Given the description of an element on the screen output the (x, y) to click on. 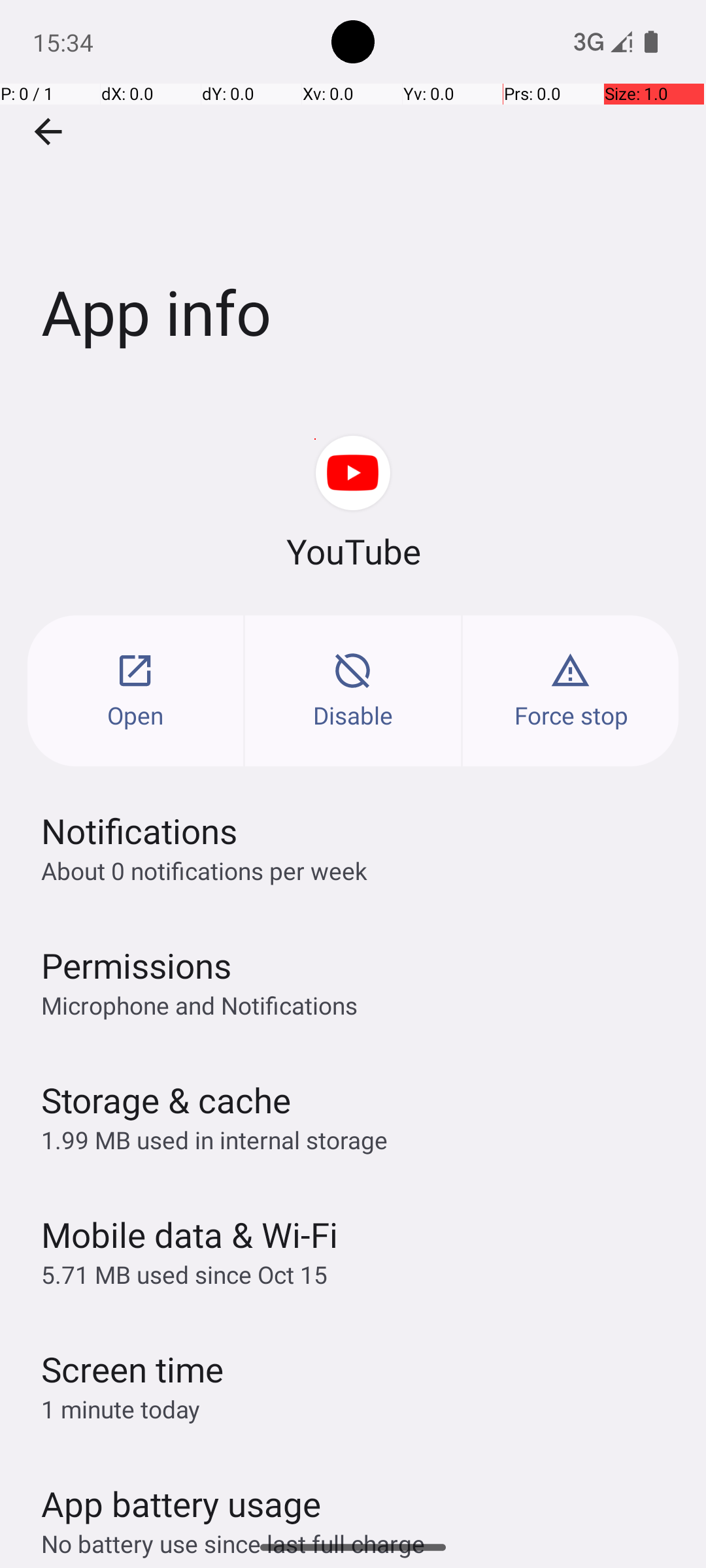
Microphone and Notifications Element type: android.widget.TextView (199, 1004)
1.99 MB used in internal storage Element type: android.widget.TextView (214, 1139)
5.71 MB used since Oct 15 Element type: android.widget.TextView (184, 1273)
1 minute today Element type: android.widget.TextView (120, 1408)
